Given the description of an element on the screen output the (x, y) to click on. 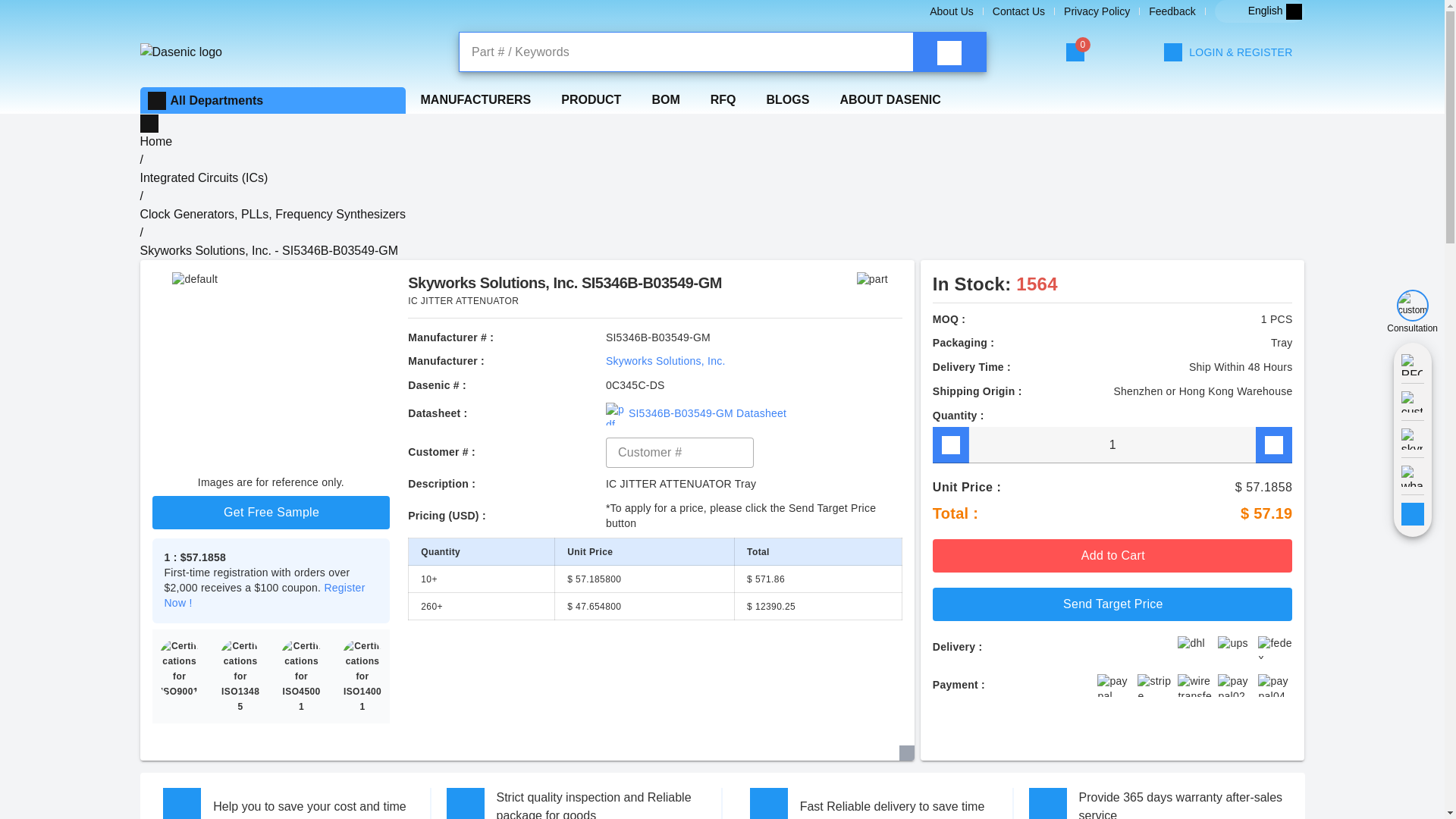
About Us (952, 11)
Avatar (1229, 51)
Contact Us (1018, 11)
1 (1112, 444)
BLOGS (787, 99)
Home (155, 141)
Add to Cart (1112, 555)
PRODUCT (591, 99)
Privacy Policy (1096, 11)
Register Now ! (264, 595)
